Given the description of an element on the screen output the (x, y) to click on. 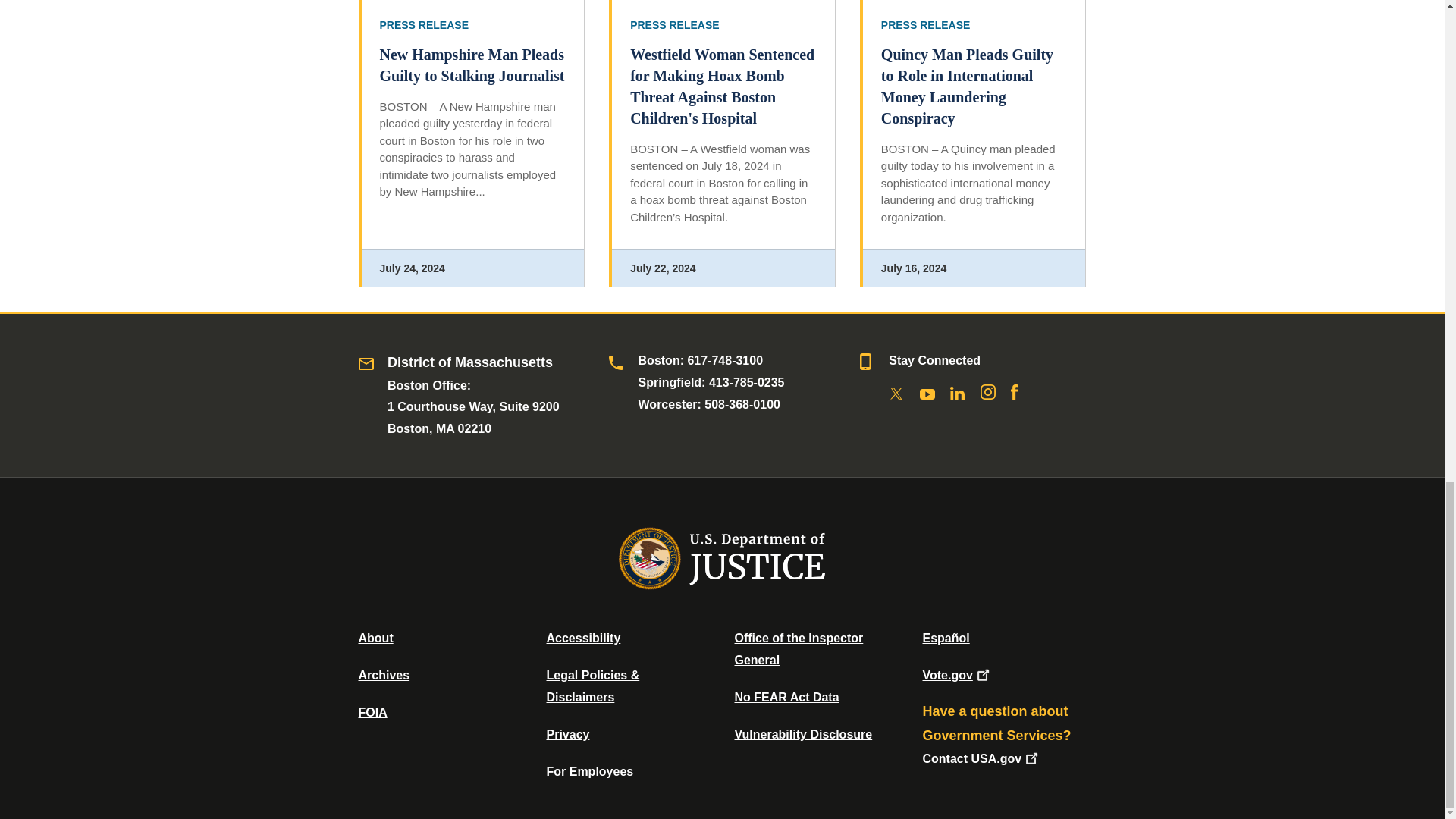
Department of Justice Archive (383, 675)
For Employees (589, 771)
Accessibility Statement (583, 637)
Data Posted Pursuant To The No Fear Act (785, 697)
Legal Policies and Disclaimers (592, 686)
About DOJ (375, 637)
Office of Information Policy (372, 712)
